Given the description of an element on the screen output the (x, y) to click on. 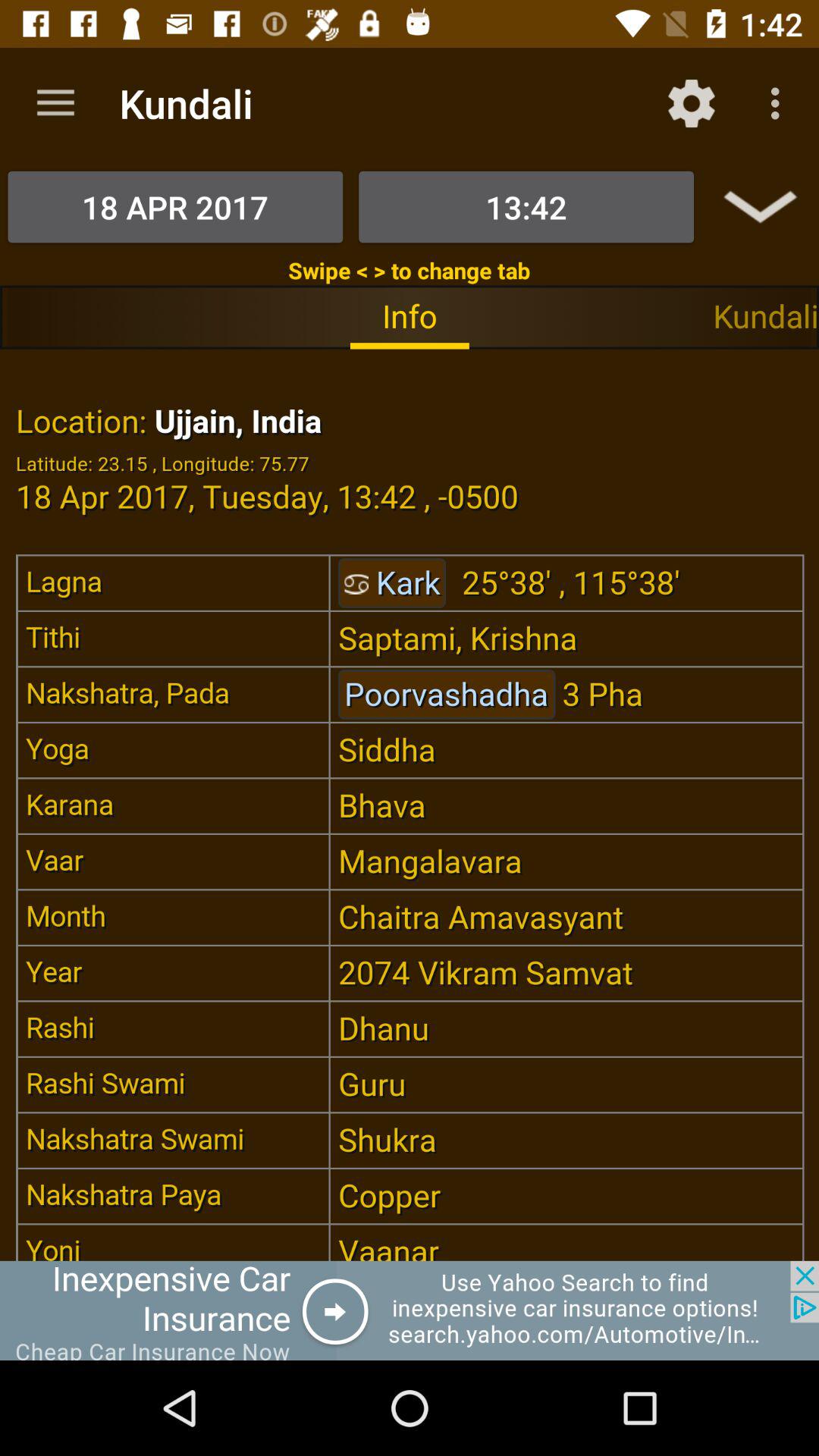
view location statistics (409, 804)
